Given the description of an element on the screen output the (x, y) to click on. 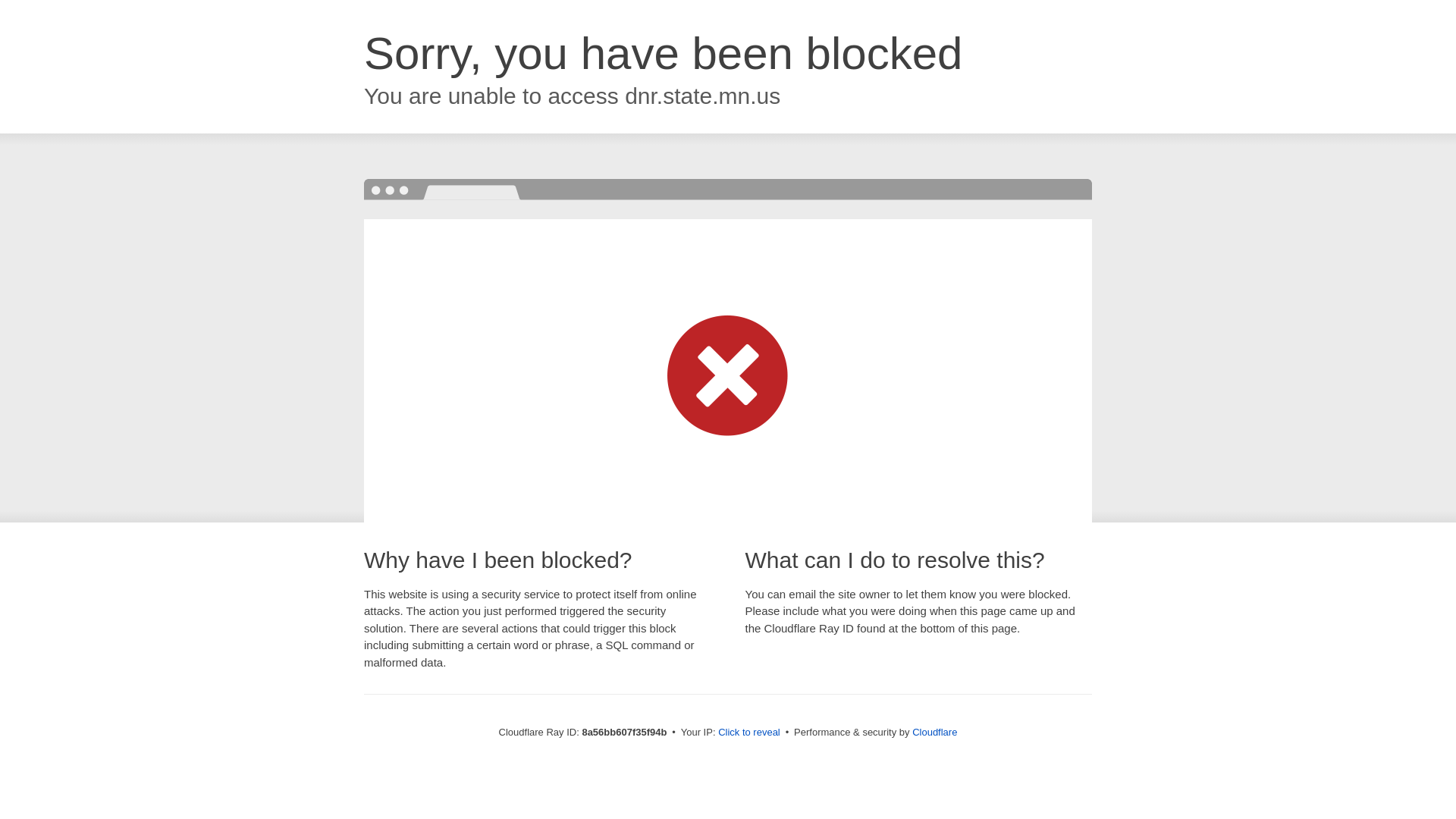
Click to reveal (748, 732)
Cloudflare (934, 731)
